Given the description of an element on the screen output the (x, y) to click on. 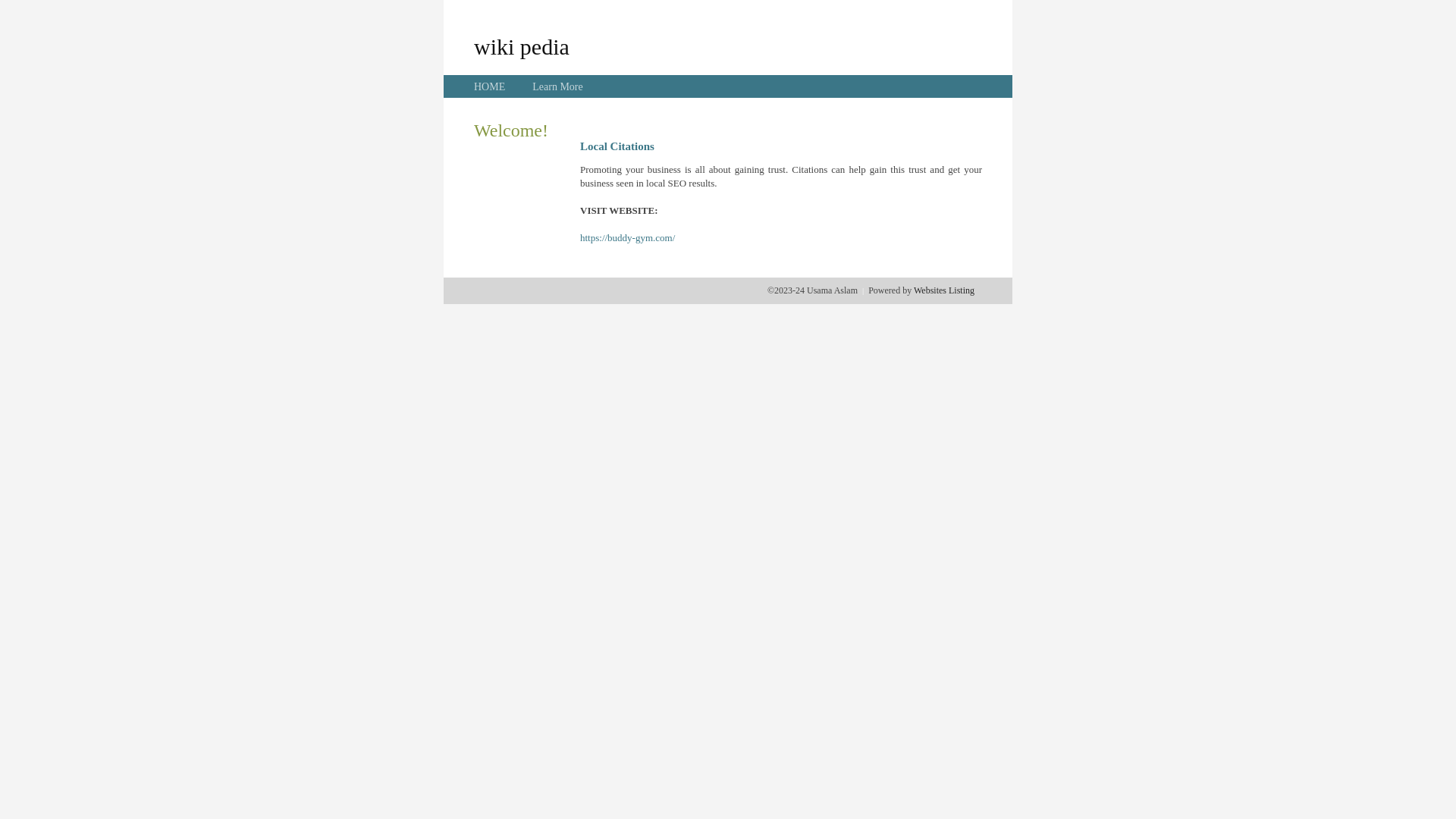
wiki pedia Element type: text (521, 46)
HOME Element type: text (489, 86)
Learn More Element type: text (557, 86)
Websites Listing Element type: text (943, 290)
https://buddy-gym.com/ Element type: text (627, 237)
